Given the description of an element on the screen output the (x, y) to click on. 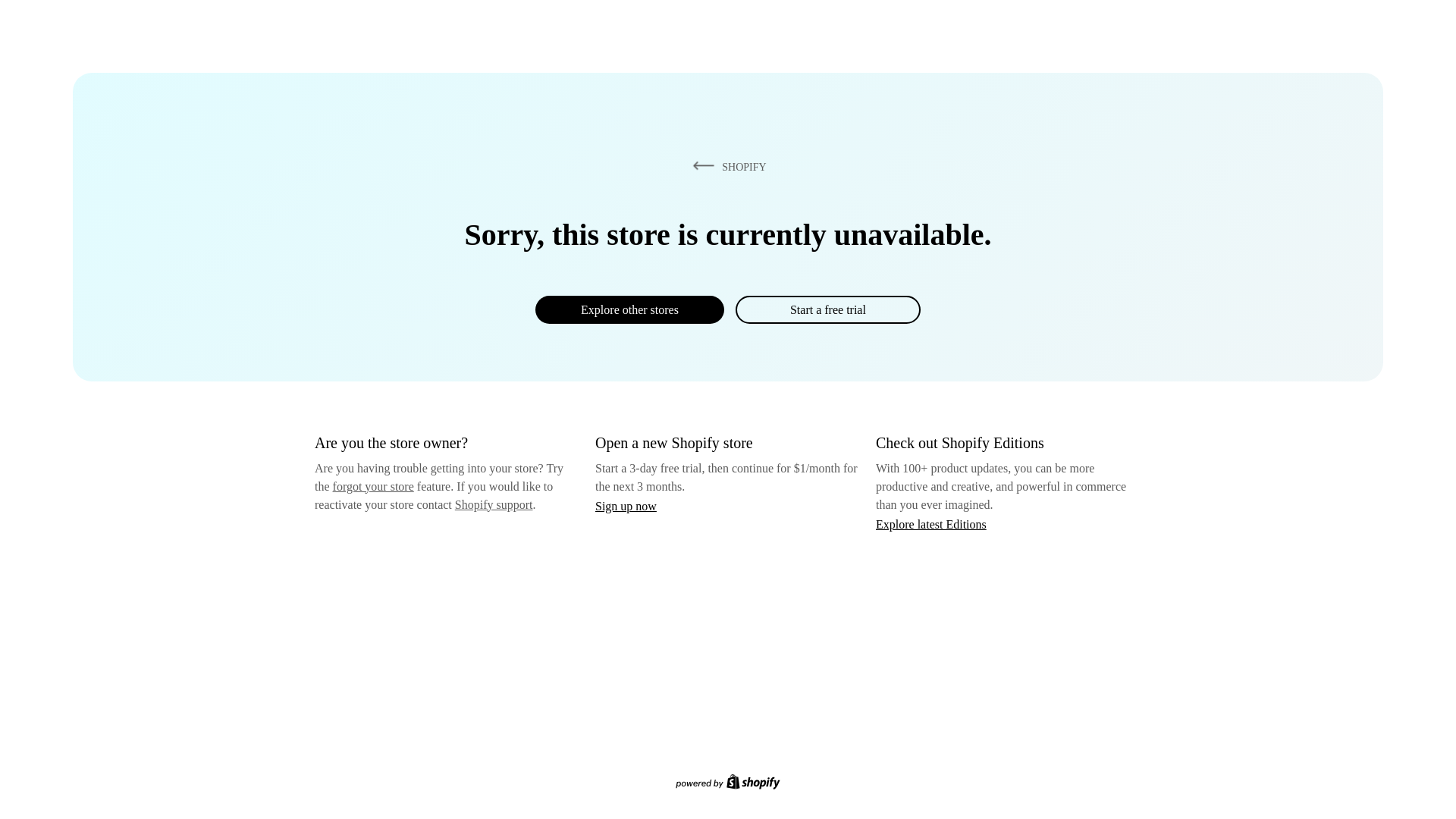
Explore other stores (629, 309)
Shopify support (493, 504)
forgot your store (373, 486)
Explore latest Editions (931, 523)
Sign up now (625, 505)
SHOPIFY (726, 166)
Start a free trial (827, 309)
